Given the description of an element on the screen output the (x, y) to click on. 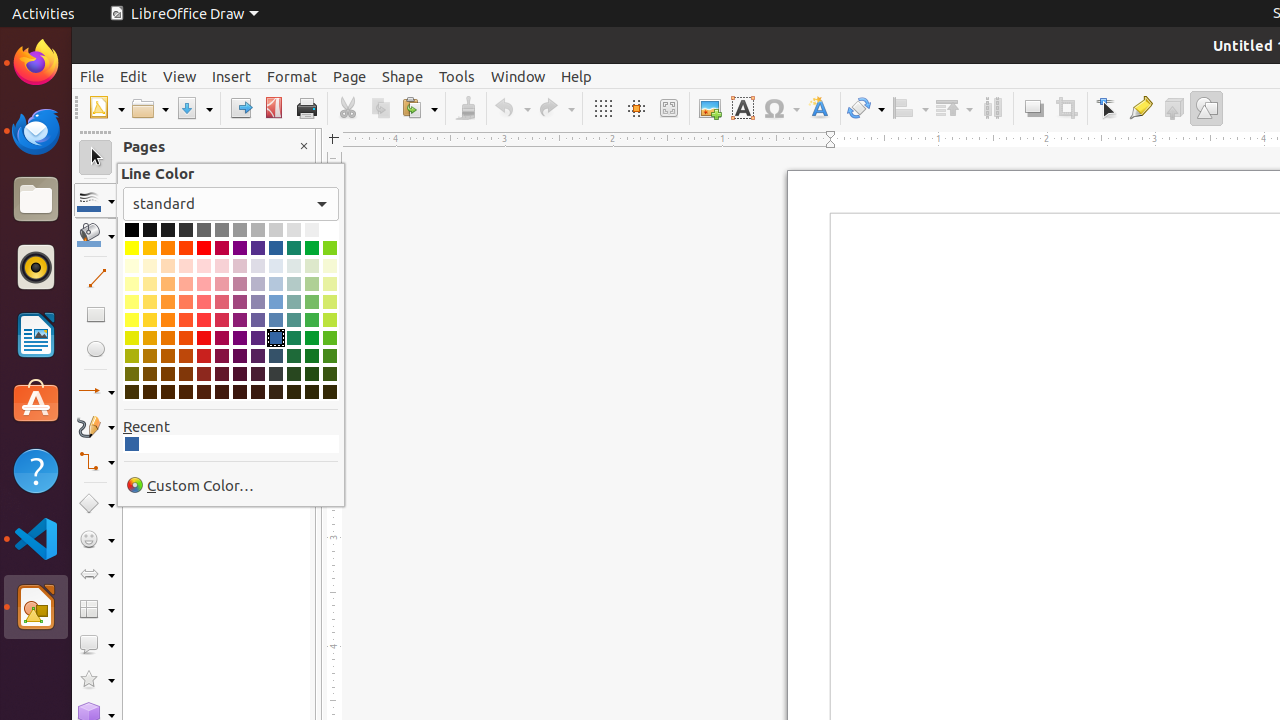
Light Gold 1 Element type: list-item (150, 320)
Dark Green 2 Element type: list-item (312, 356)
Dark Blue 2 Element type: list-item (276, 356)
Light Gray 4 Element type: list-item (294, 230)
Dark Magenta 1 Element type: list-item (222, 338)
